Given the description of an element on the screen output the (x, y) to click on. 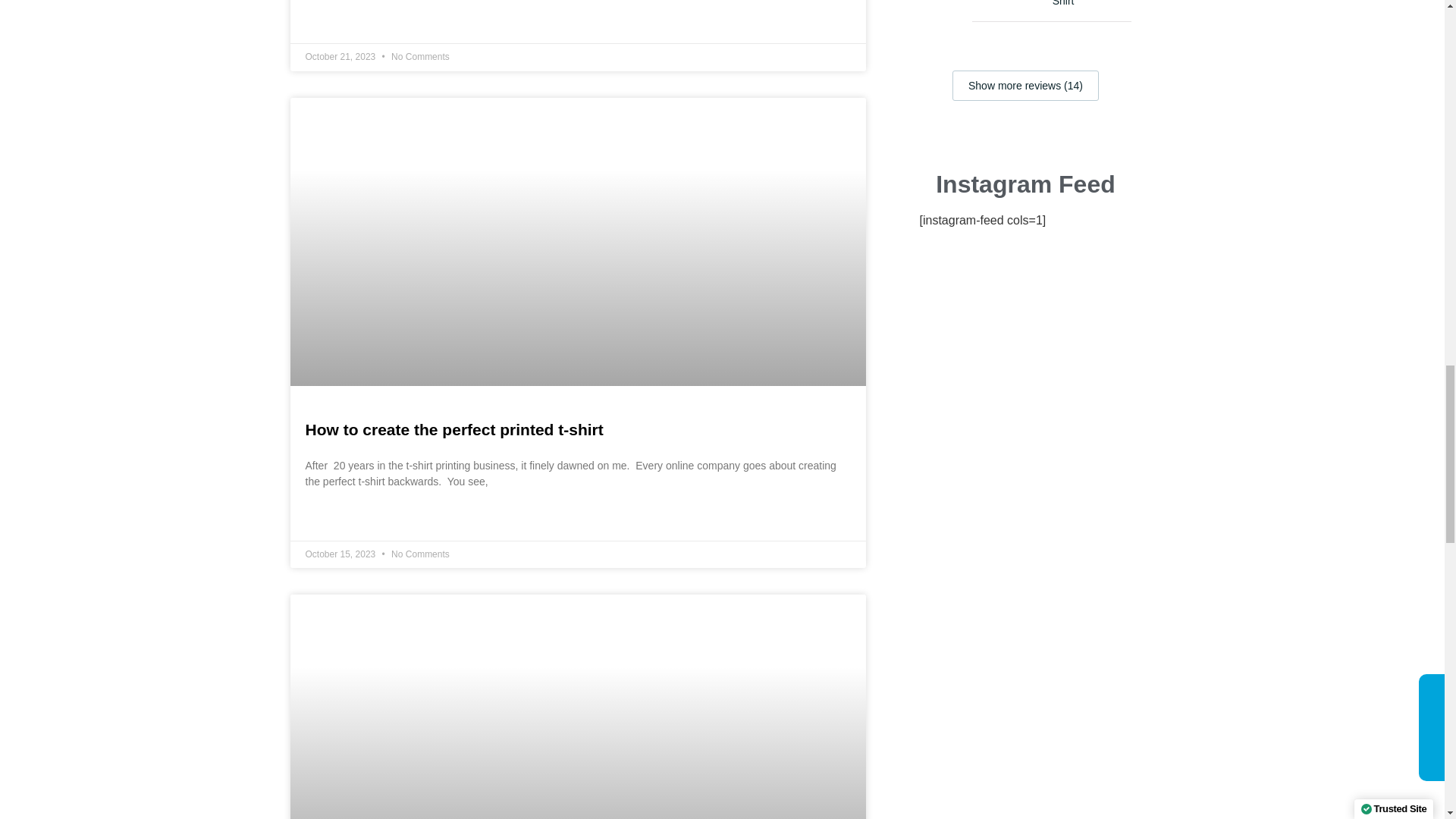
Ultra Cotton T-Shirt (1092, 4)
How to create the perfect printed t-shirt (453, 429)
